Given the description of an element on the screen output the (x, y) to click on. 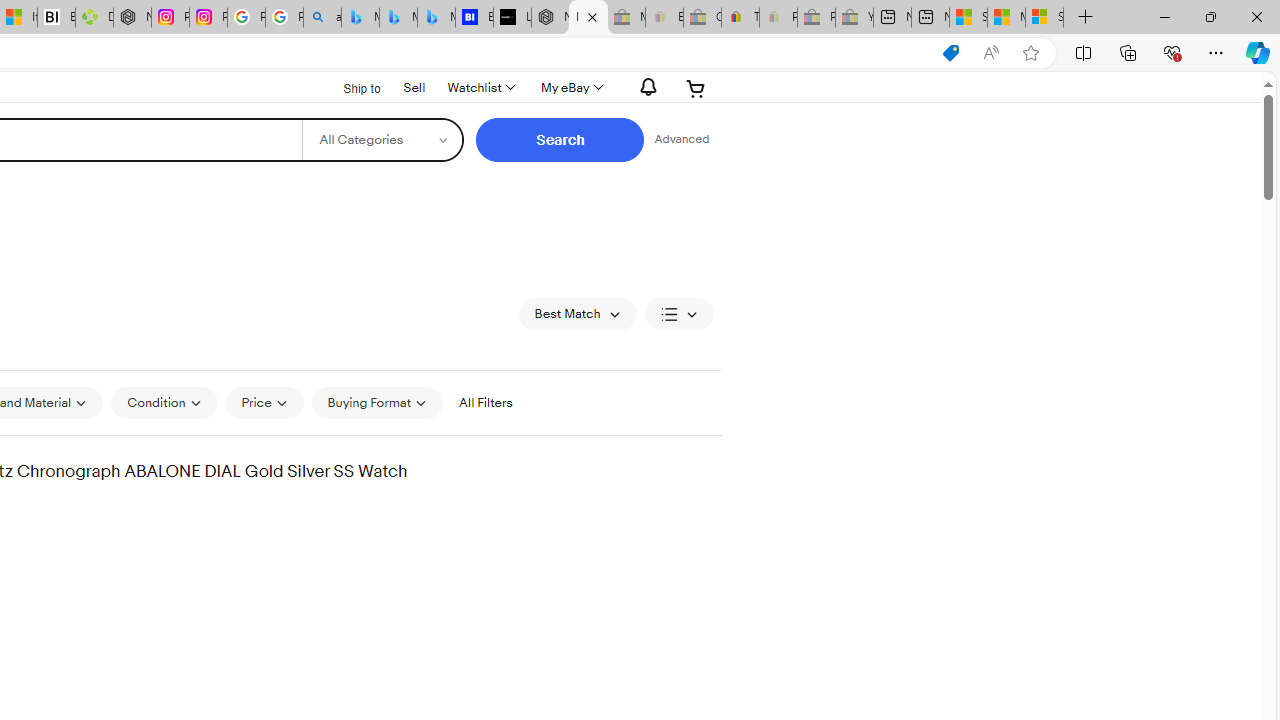
Select a category for search (382, 139)
Sell (413, 86)
My eBayExpand My eBay (569, 88)
Press Room - eBay Inc. - Sleeping (815, 17)
My eBay (569, 88)
Microsoft Bing Travel - Shangri-La Hotel Bangkok (436, 17)
Shanghai, China hourly forecast | Microsoft Weather (967, 17)
Sort: Best Match (577, 313)
All Filters (485, 402)
